Given the description of an element on the screen output the (x, y) to click on. 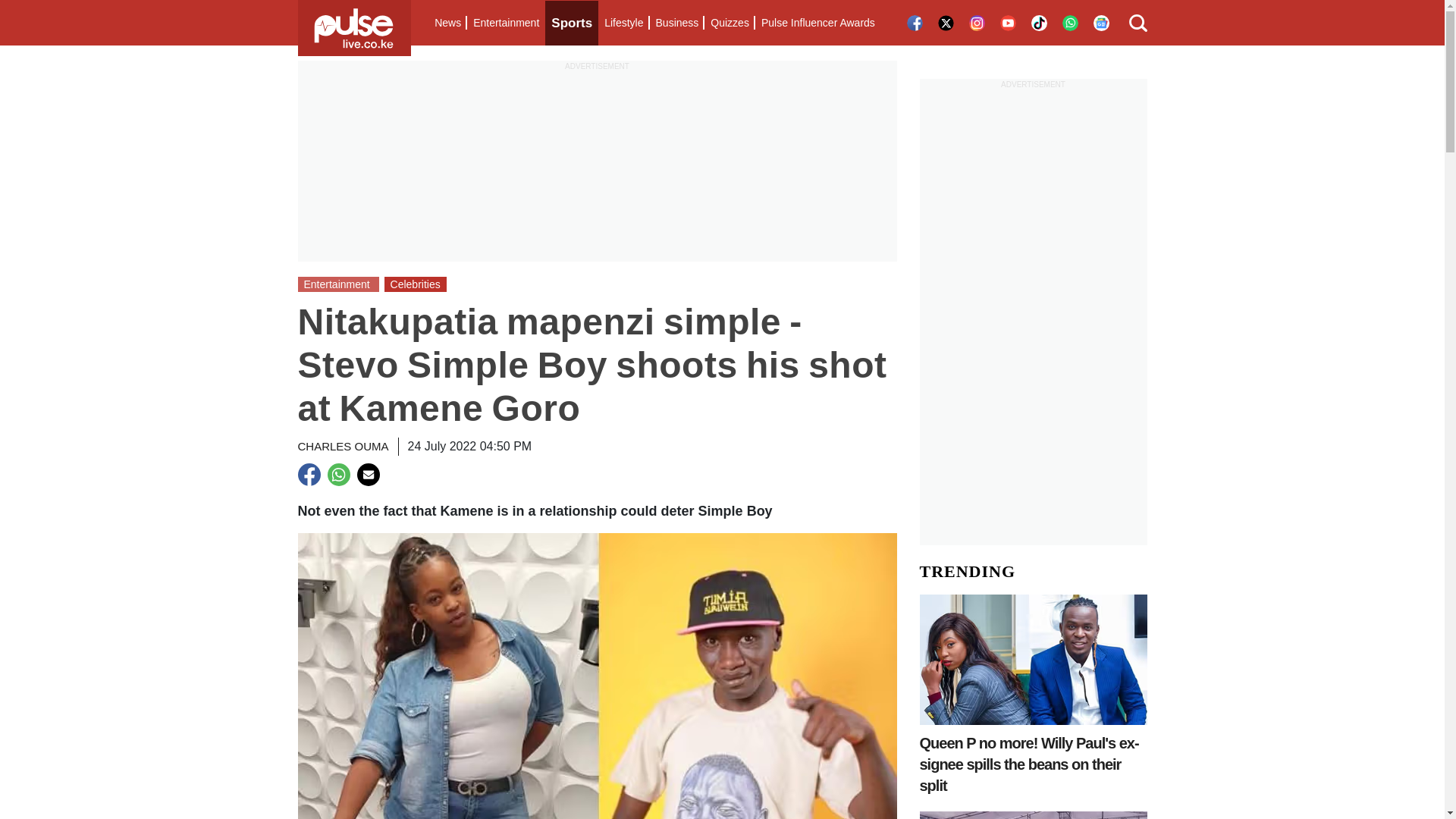
Pulse Influencer Awards (817, 22)
Sports (571, 22)
Lifestyle (623, 22)
Quizzes (729, 22)
Entertainment (505, 22)
Business (676, 22)
